Given the description of an element on the screen output the (x, y) to click on. 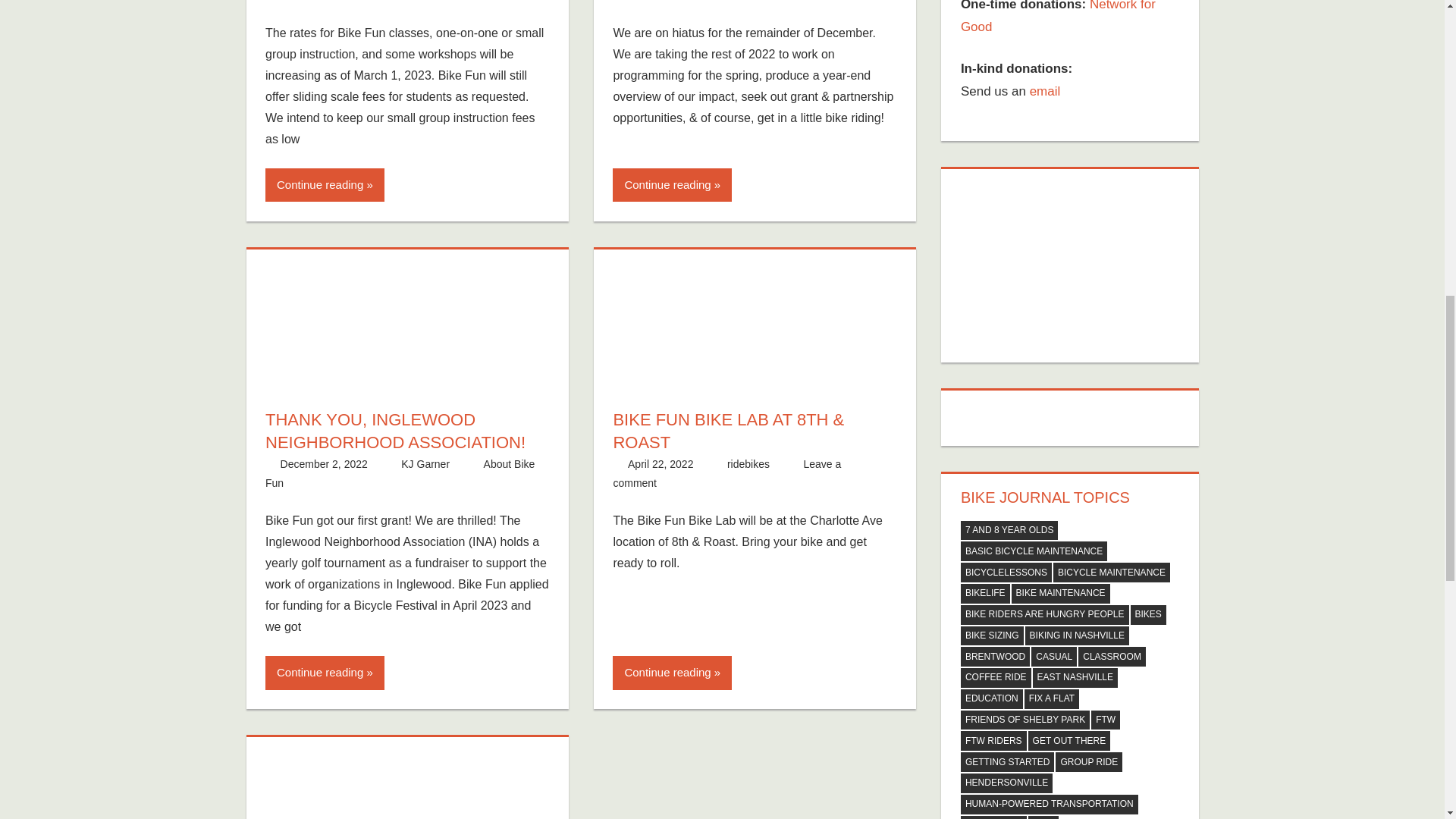
Continue reading (672, 184)
View all posts by KJ Garner (425, 463)
Continue reading (324, 184)
10:18 am (324, 463)
2:22 am (660, 463)
View all posts by ridebikes (748, 463)
